Given the description of an element on the screen output the (x, y) to click on. 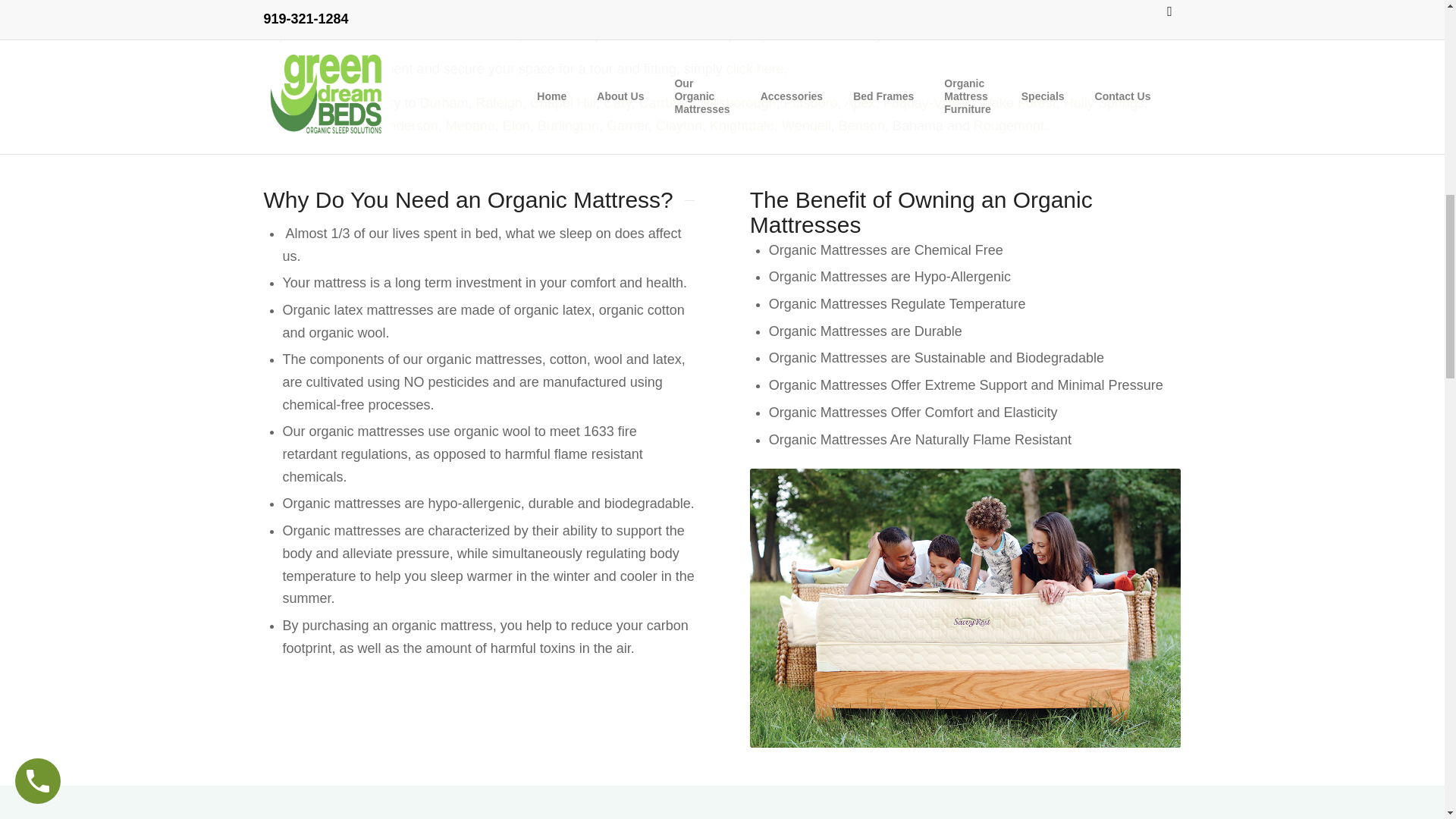
Hillsborough (735, 102)
Chapel Hill (562, 102)
Wake Forest (1016, 102)
Cary (617, 102)
click here (753, 68)
Raleigh, (502, 102)
Carrboro (666, 102)
Durham (444, 102)
Fuquay-Varina (927, 102)
Pittsboro (811, 102)
